Given the description of an element on the screen output the (x, y) to click on. 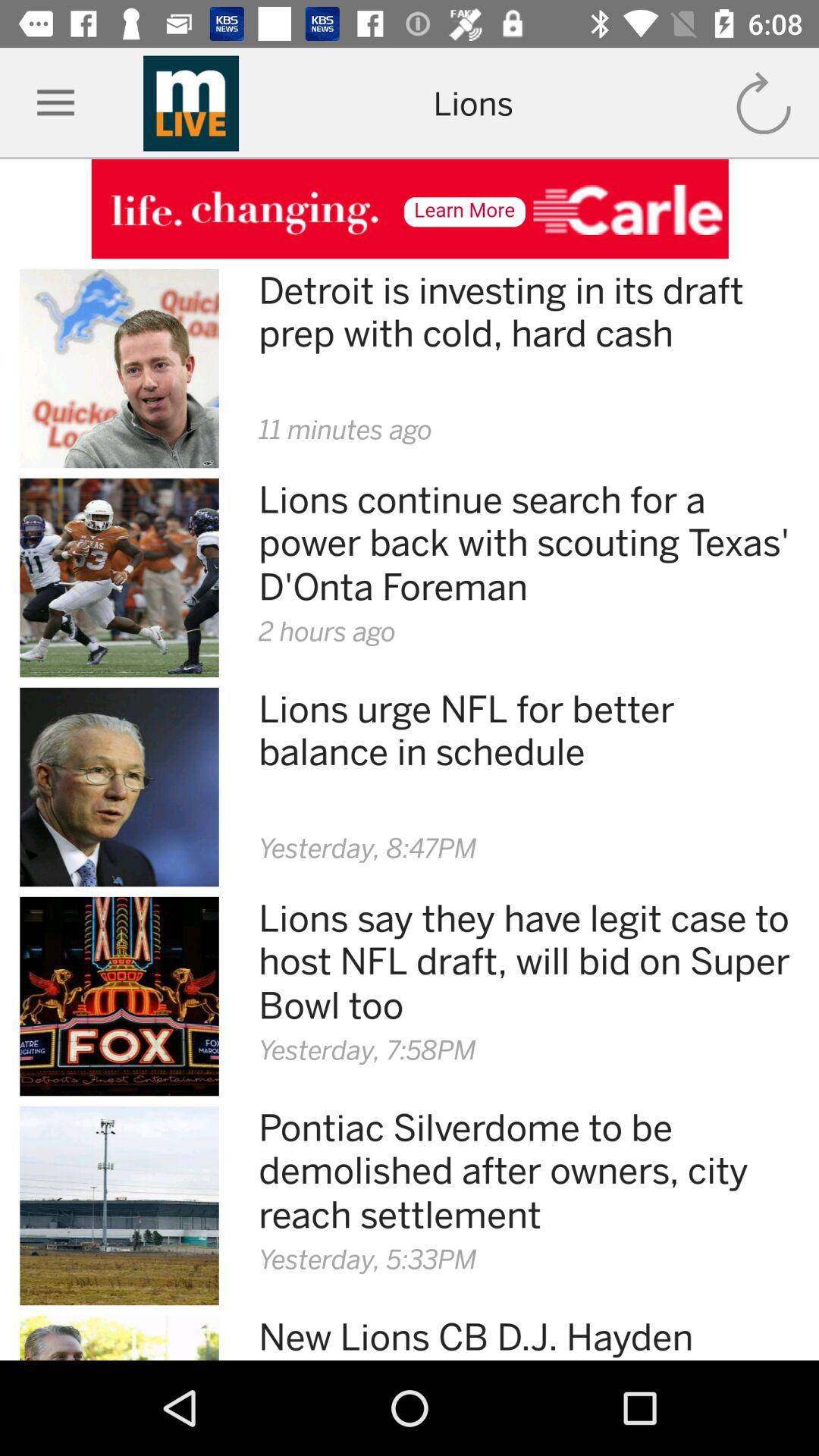
open menu (55, 103)
